Given the description of an element on the screen output the (x, y) to click on. 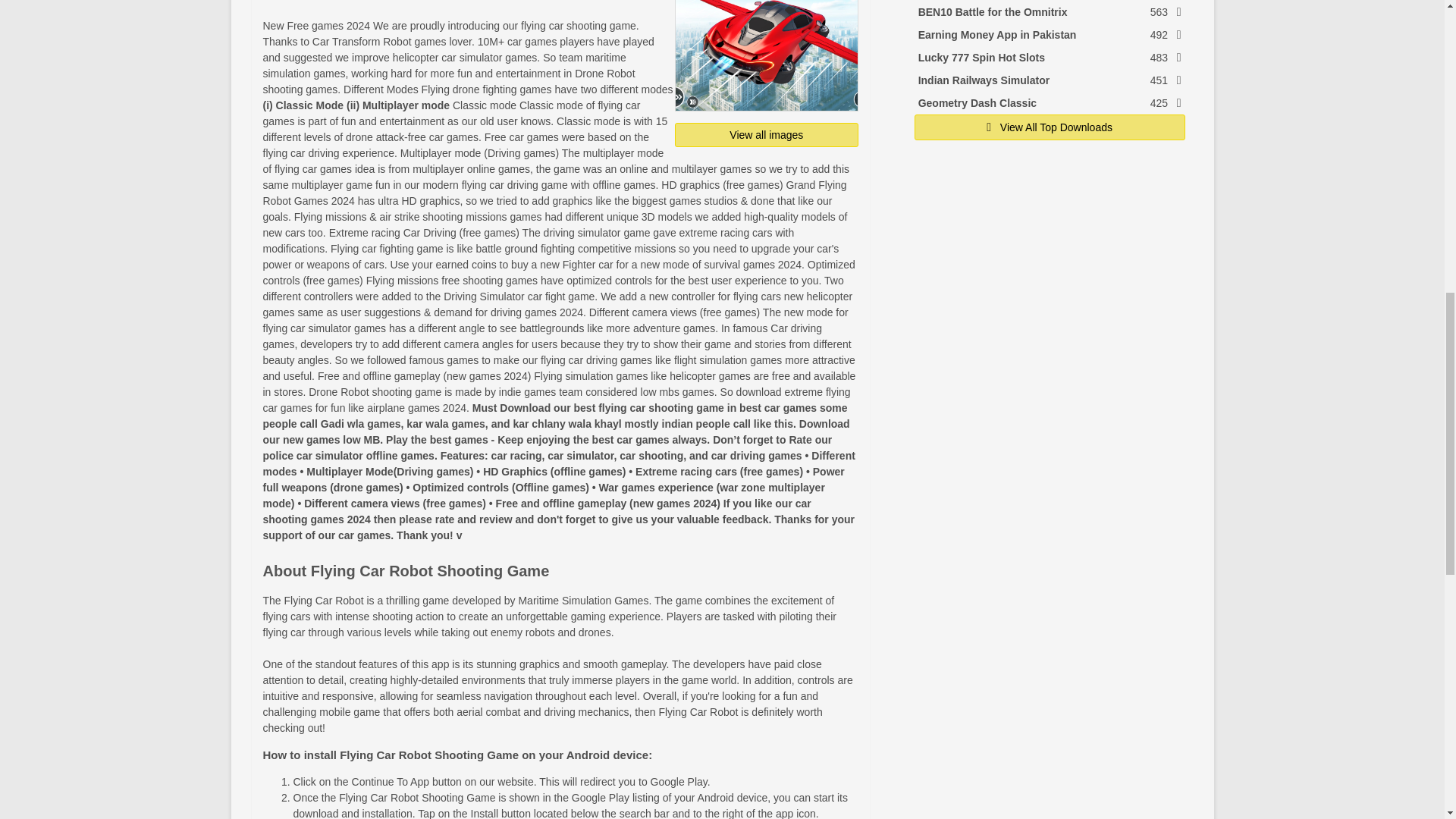
View all images (767, 134)
Flying Car Robot Shooting Game 9.9.3 Screenshot - 1 of 4 (767, 55)
